Given the description of an element on the screen output the (x, y) to click on. 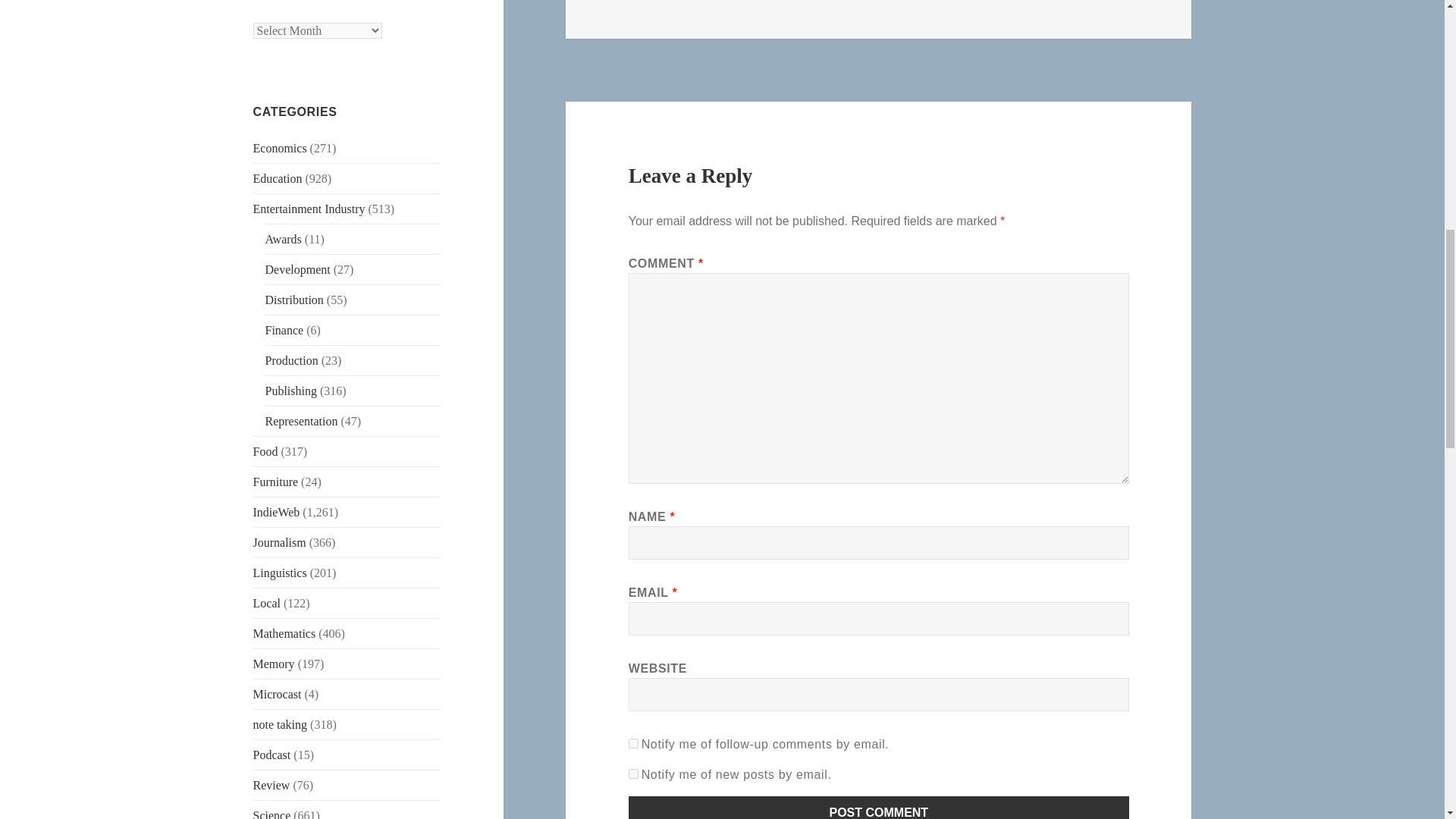
subscribe (633, 773)
subscribe (633, 743)
Post Comment (878, 807)
